Given the description of an element on the screen output the (x, y) to click on. 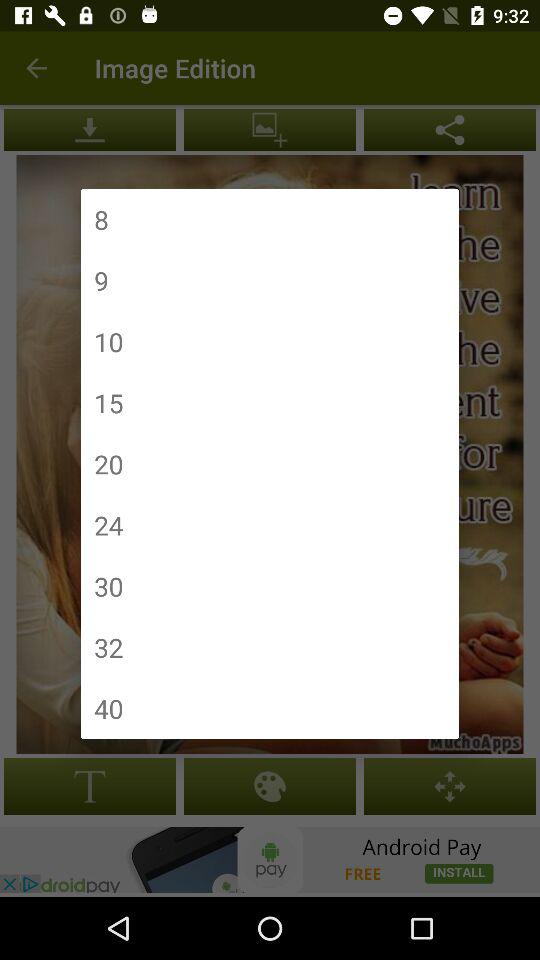
launch 8 icon (101, 219)
